Given the description of an element on the screen output the (x, y) to click on. 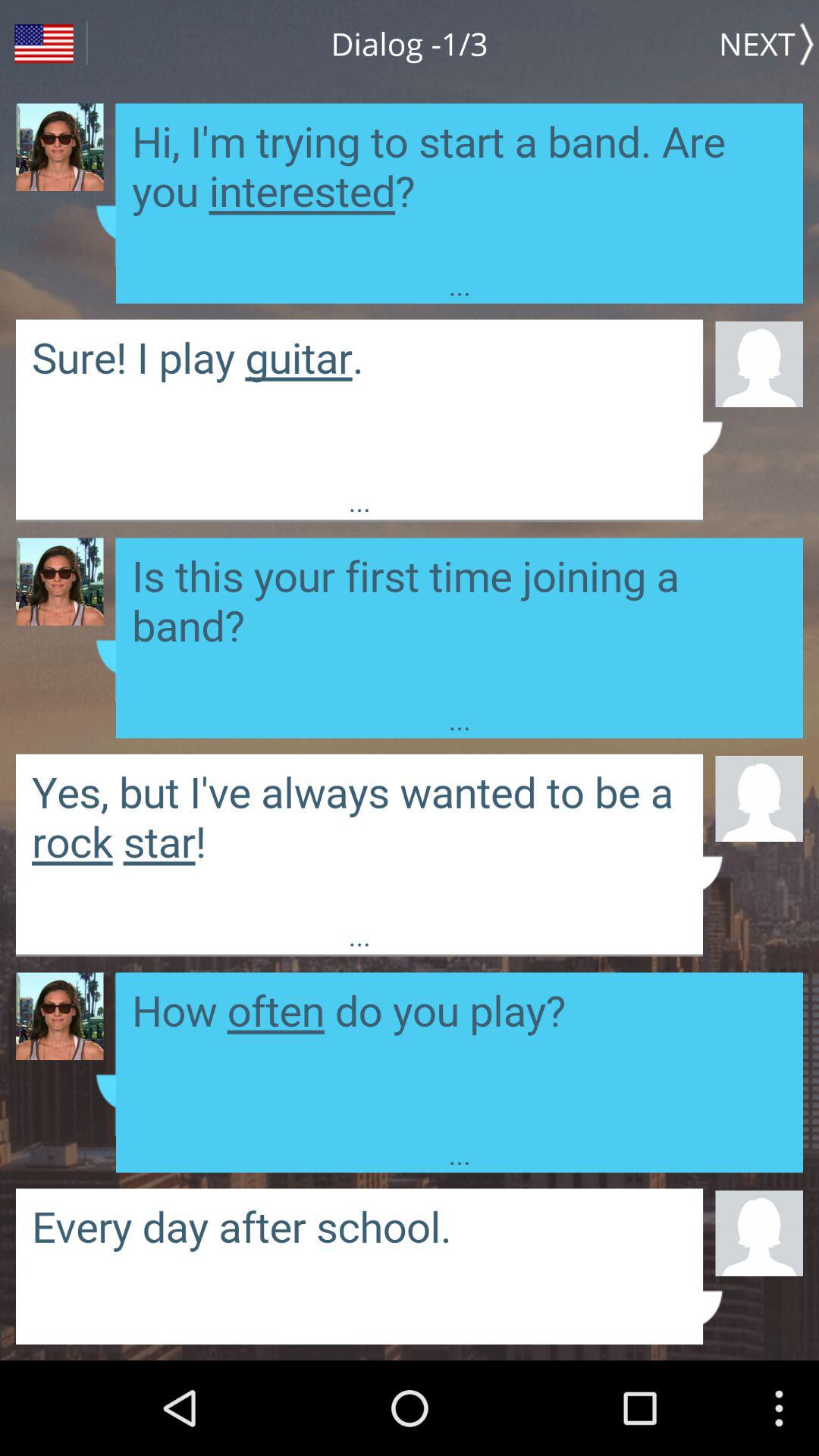
select the message (358, 835)
